Given the description of an element on the screen output the (x, y) to click on. 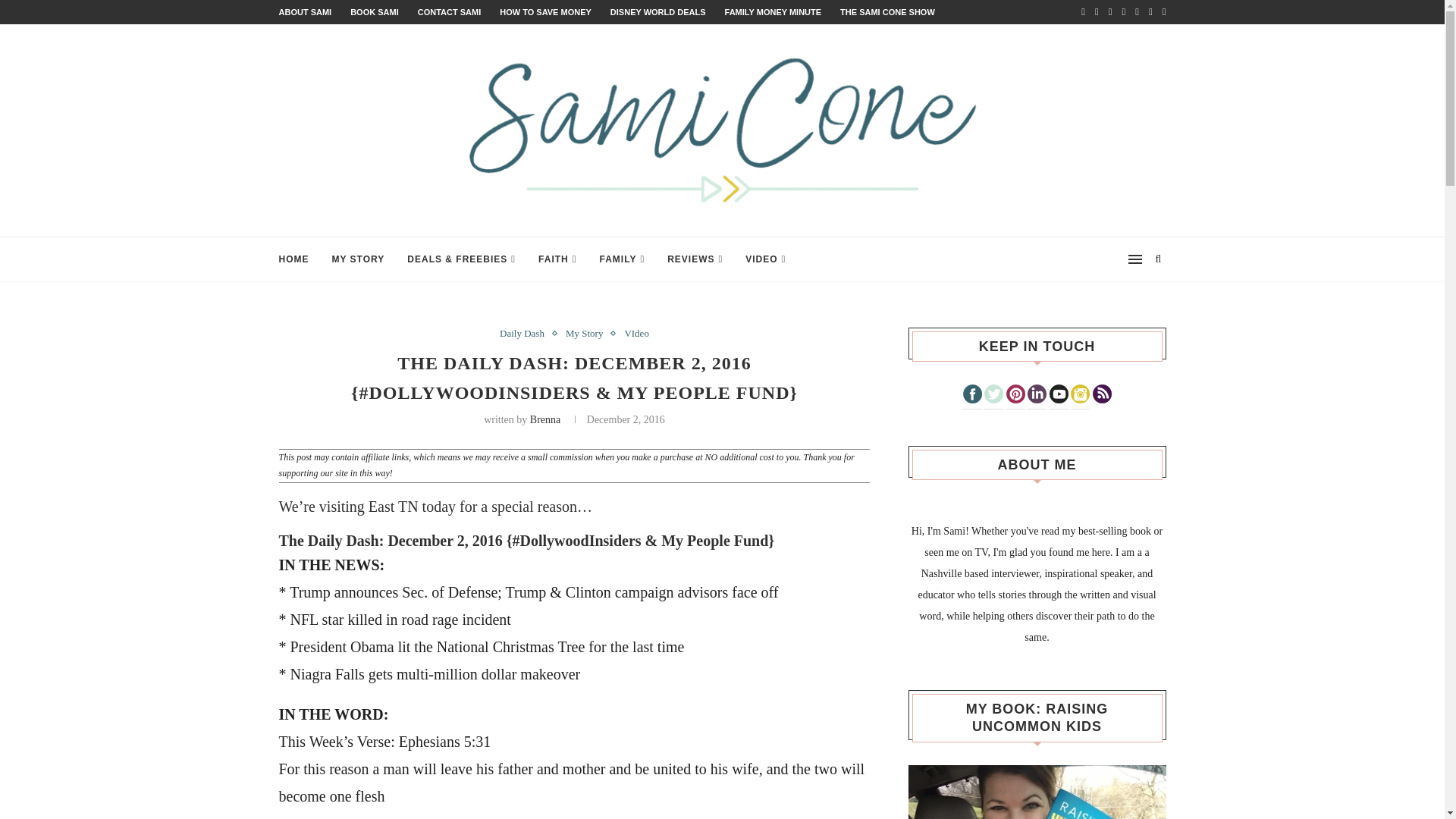
Facebook (971, 393)
